Given the description of an element on the screen output the (x, y) to click on. 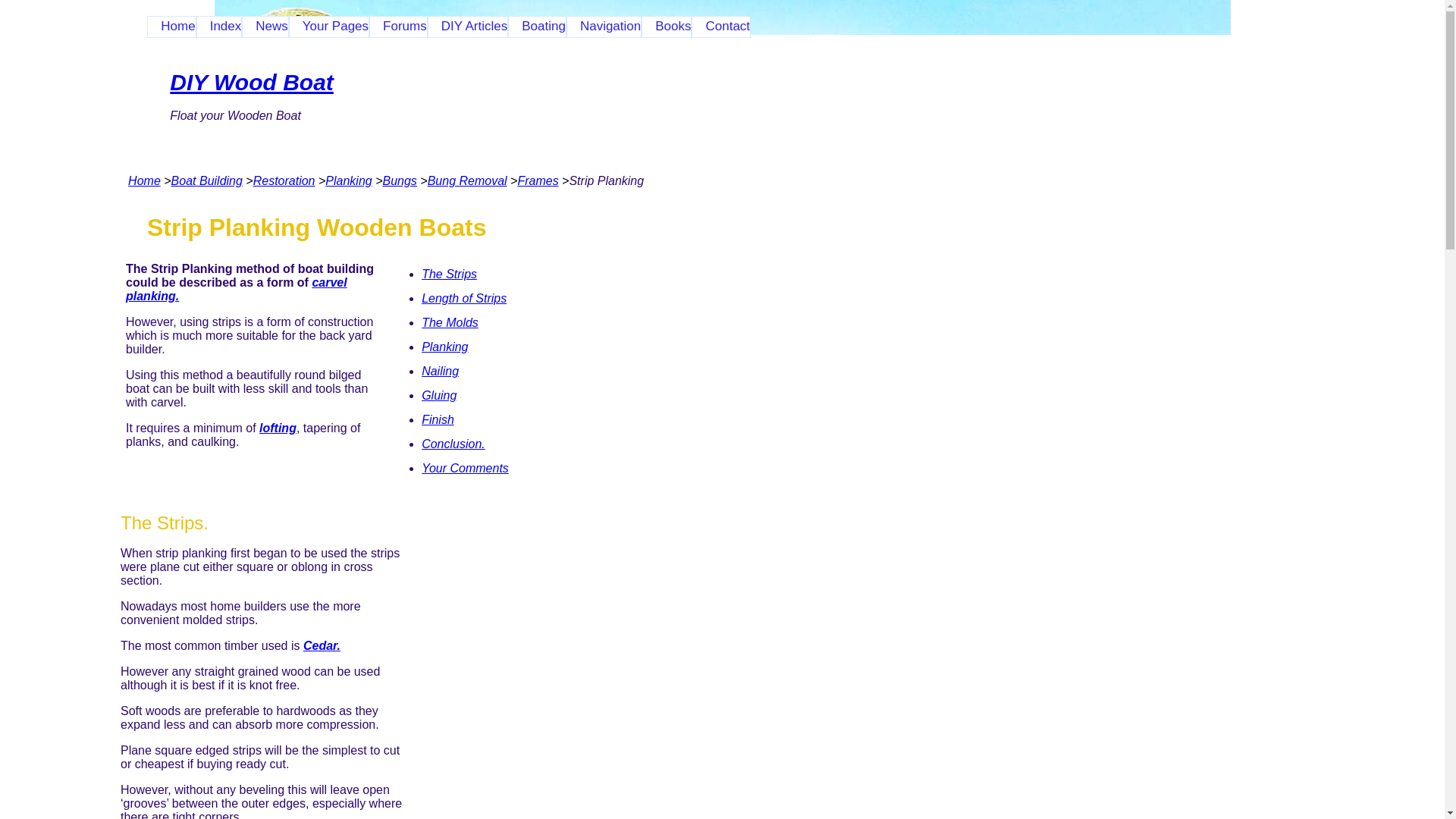
Home (171, 26)
Index (218, 26)
DIY Wood Boat (251, 82)
